Given the description of an element on the screen output the (x, y) to click on. 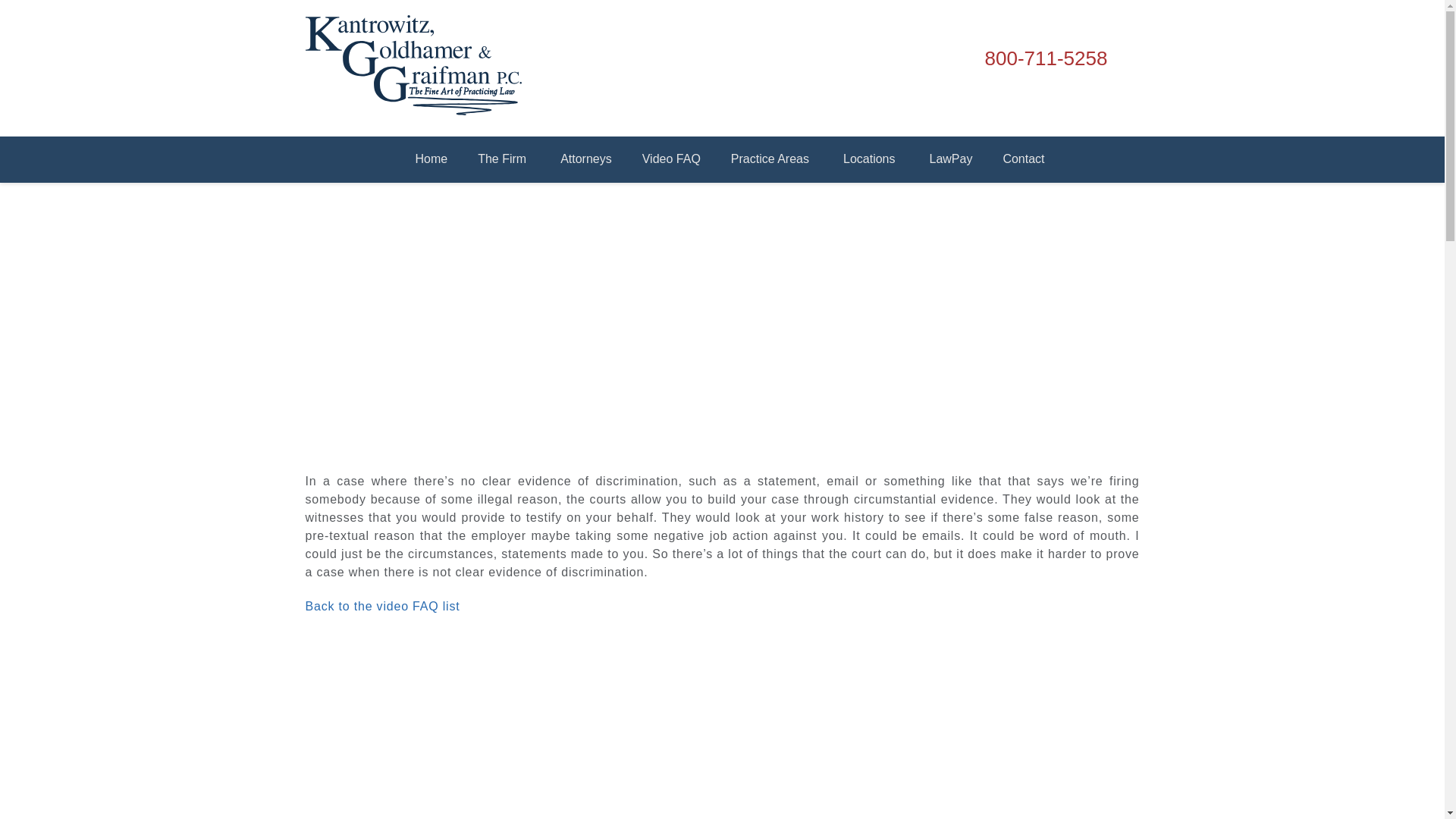
The Firm (503, 159)
Video FAQ (671, 159)
Home (430, 159)
Practice Areas (772, 159)
Attorneys (585, 159)
